Given the description of an element on the screen output the (x, y) to click on. 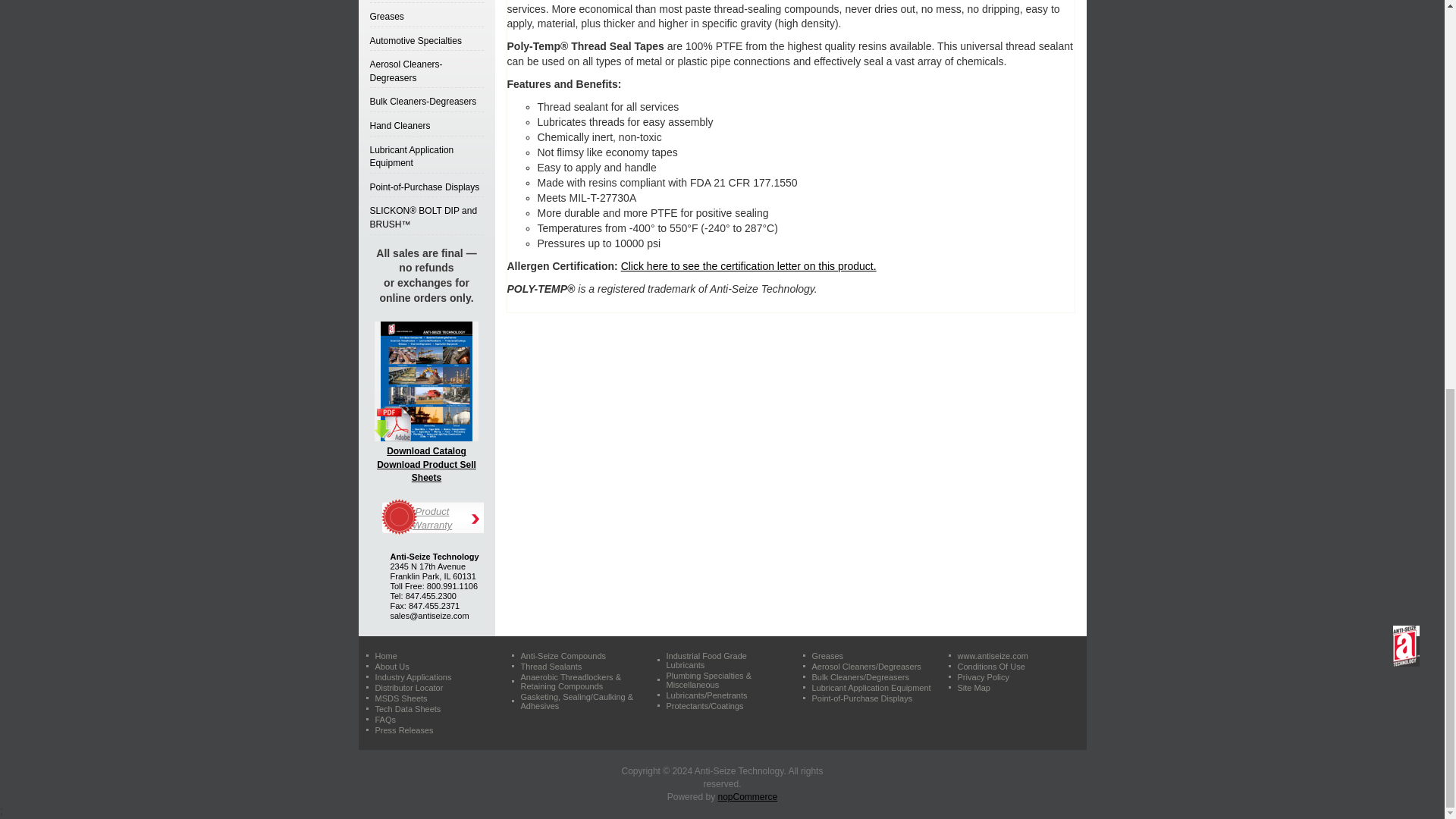
Download Catalog (426, 381)
